Given the description of an element on the screen output the (x, y) to click on. 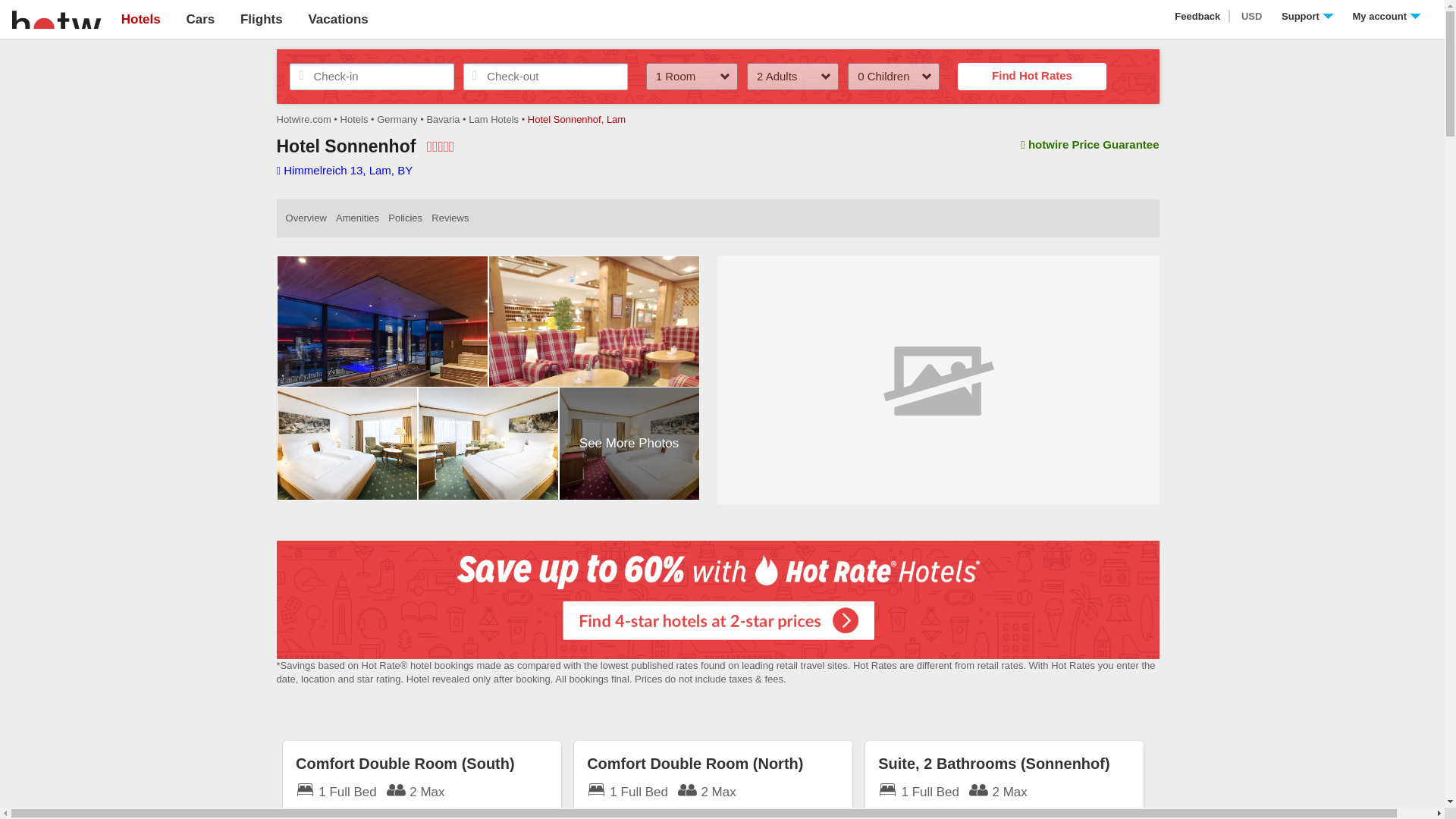
Hotwire (56, 18)
Flights (261, 19)
Support (1307, 16)
Vacations (337, 19)
Hotels (140, 19)
My account (1386, 16)
Feedback (1198, 16)
4.5 (440, 146)
Cars (200, 19)
